Given the description of an element on the screen output the (x, y) to click on. 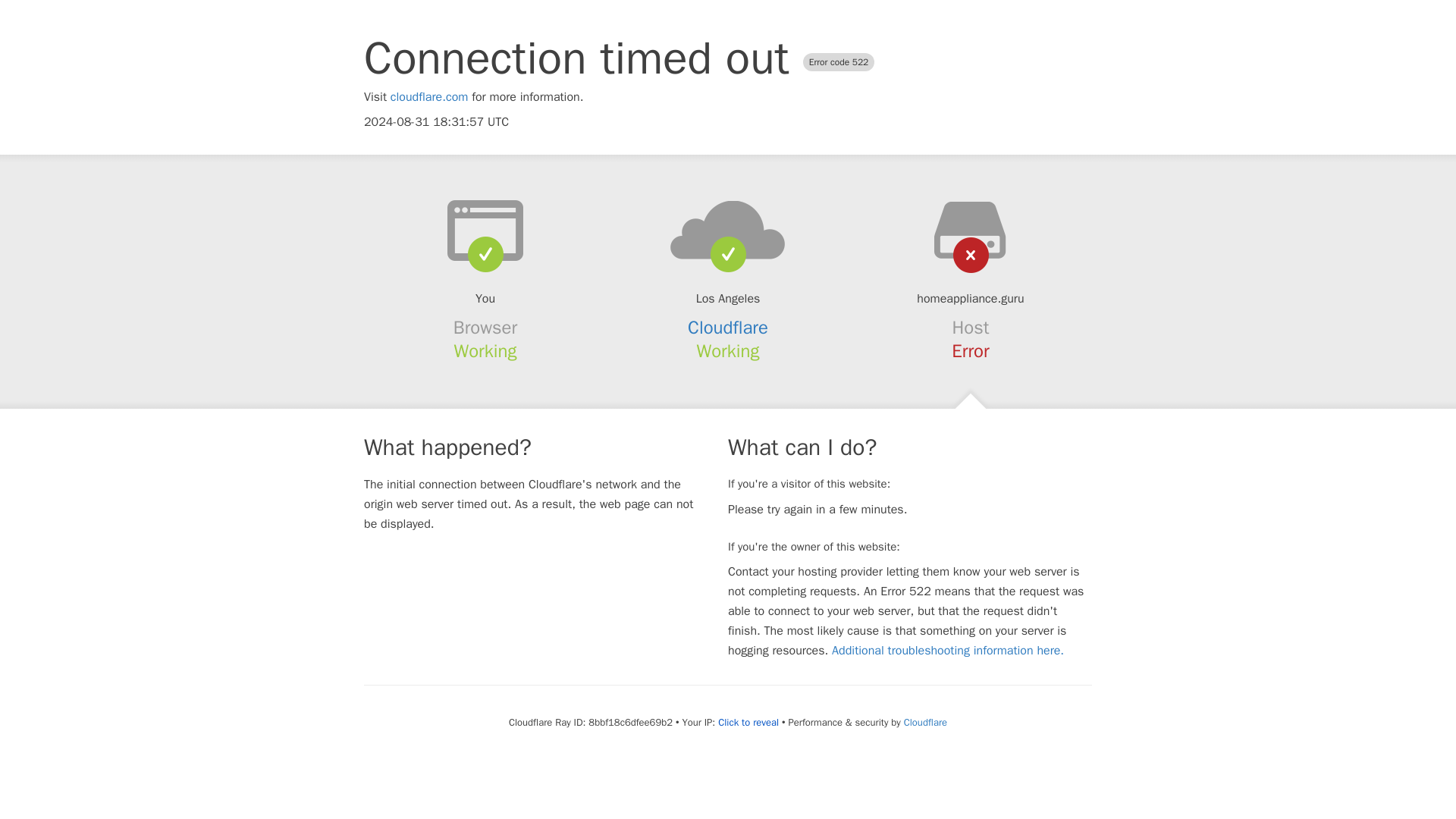
Click to reveal (747, 722)
cloudflare.com (429, 96)
Cloudflare (727, 327)
Cloudflare (925, 721)
Additional troubleshooting information here. (947, 650)
